Given the description of an element on the screen output the (x, y) to click on. 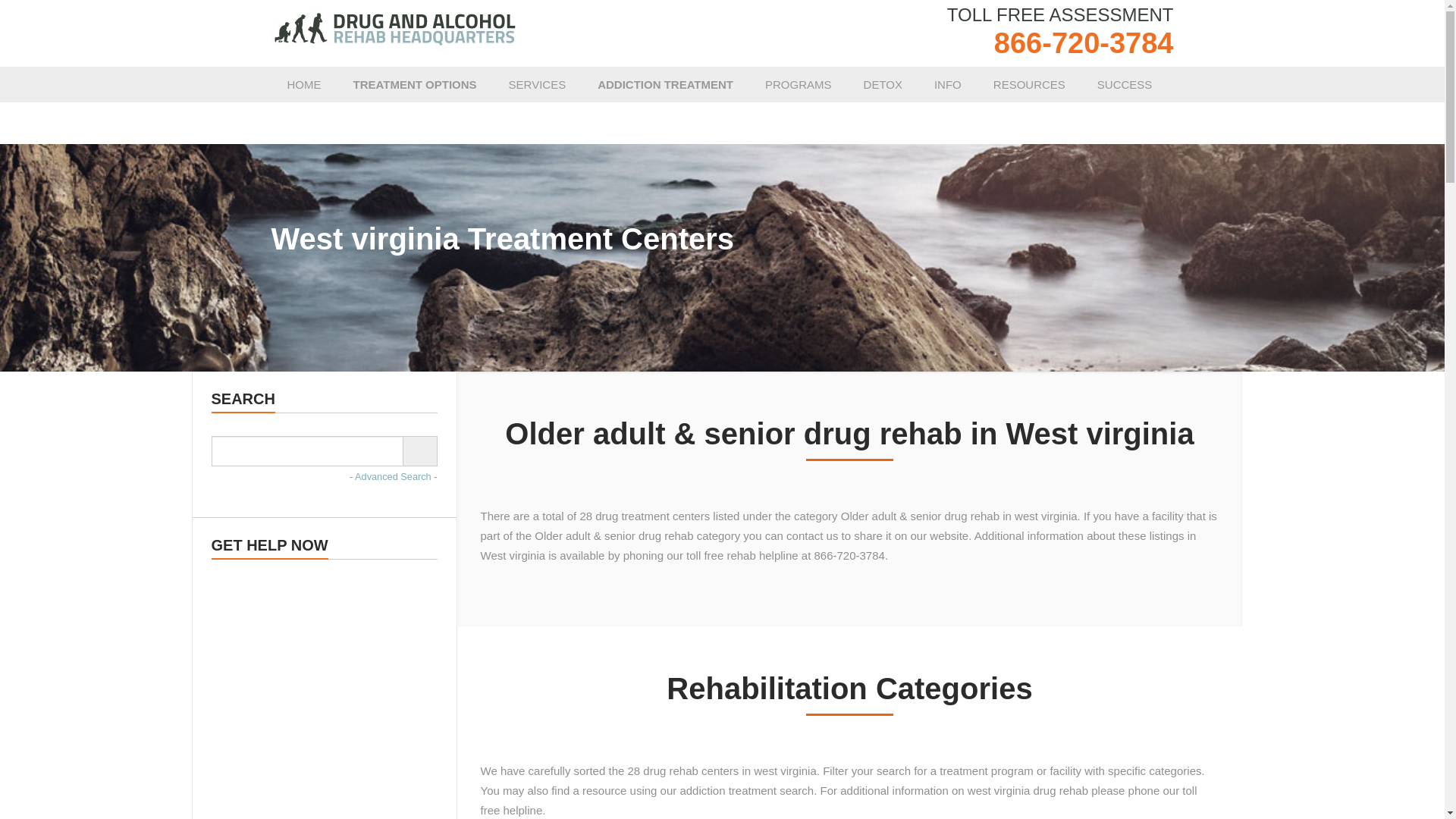
PROGRAMS (798, 84)
SERVICES (537, 84)
866-720-3784 (1083, 42)
ADDICTION TREATMENT (664, 84)
HOME (303, 84)
Drug And Alcohol Rehab Headquarters (394, 28)
TREATMENT OPTIONS (414, 84)
